Given the description of an element on the screen output the (x, y) to click on. 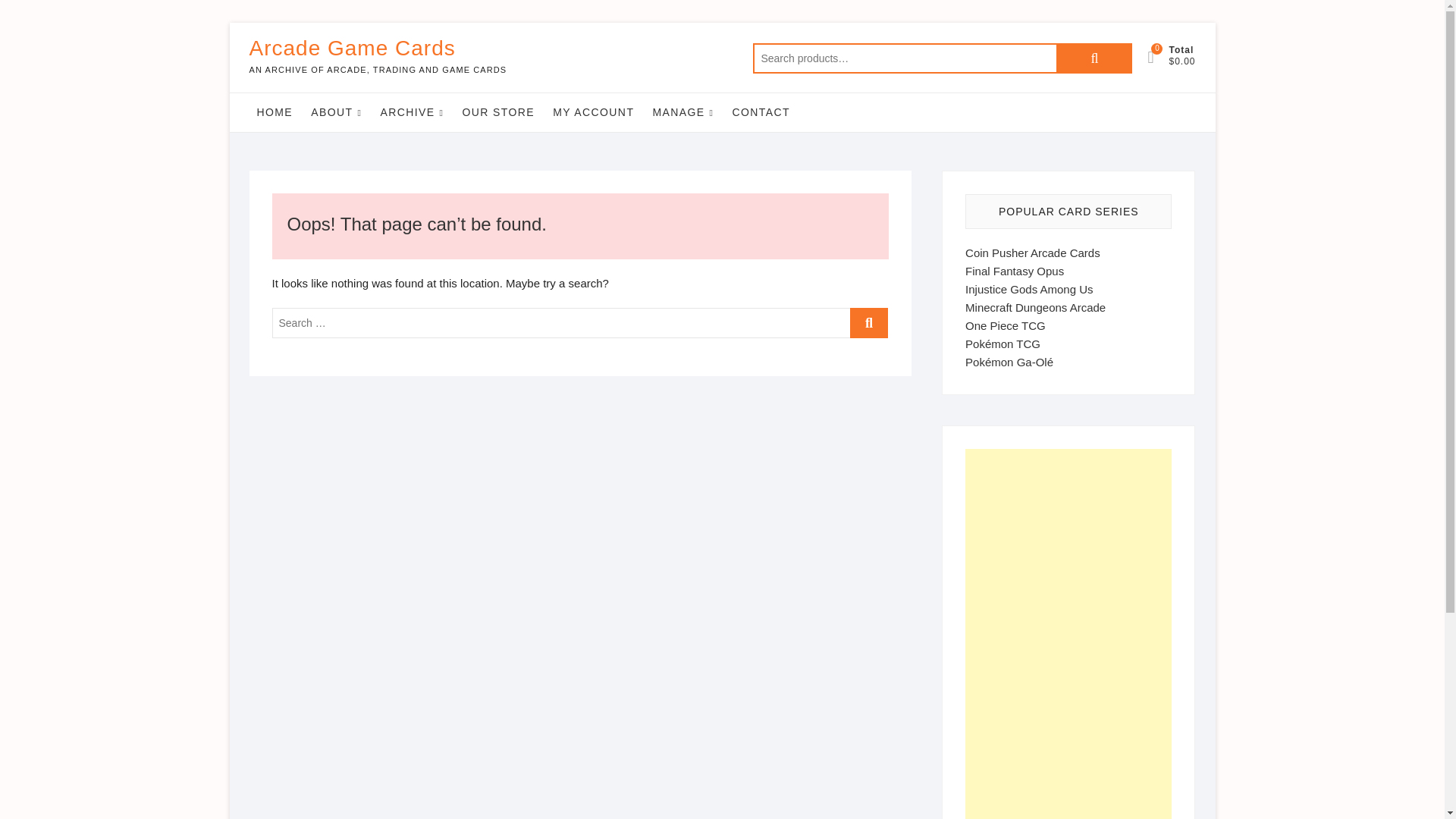
Injustice Gods Among Us (1029, 288)
Minecraft Dungeons Arcade (1035, 307)
CONTACT (761, 112)
MANAGE (683, 112)
ARCHIVE (411, 112)
Coin Pusher Arcade Cards (1032, 252)
Arcade Game Cards (377, 48)
OUR STORE (498, 112)
Arcade Game Cards (377, 48)
